Given the description of an element on the screen output the (x, y) to click on. 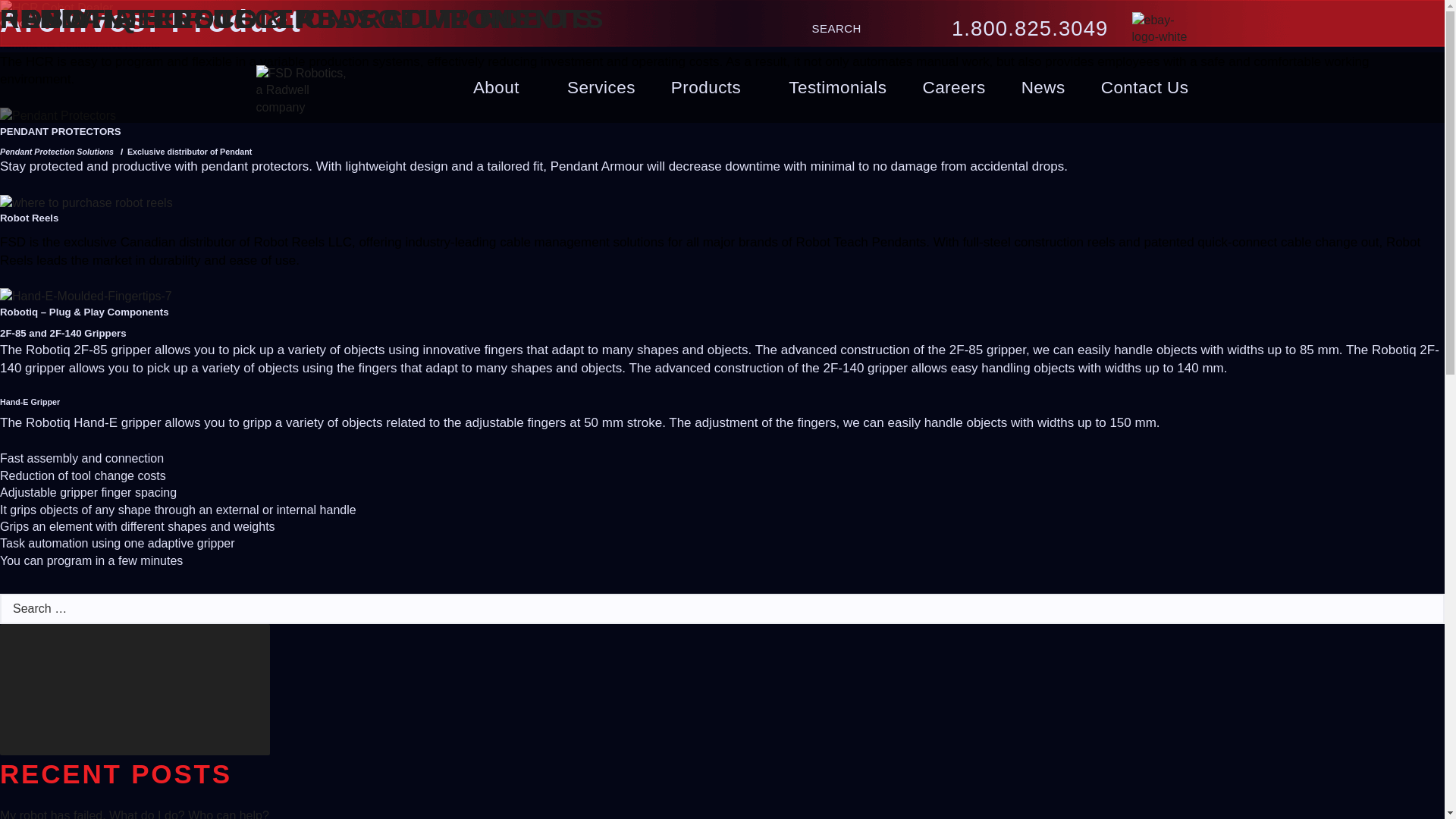
HANWHA HCR COLLABORATIVE ROBOTS (302, 18)
Ebay (1159, 36)
My robot has failed, What do I do? Who can help? (134, 814)
Products (711, 87)
Contact Us (1144, 87)
Contact Us (1144, 87)
PENDANT PROTECTION SOLUTIONS (265, 18)
Testimonials (837, 87)
FSD Robotics, a Radwell company (301, 87)
SEARCH (839, 28)
Services (600, 87)
1.800.825.3049 (1030, 29)
Search (839, 28)
Products (711, 87)
ROBOT REELS (107, 18)
